Given the description of an element on the screen output the (x, y) to click on. 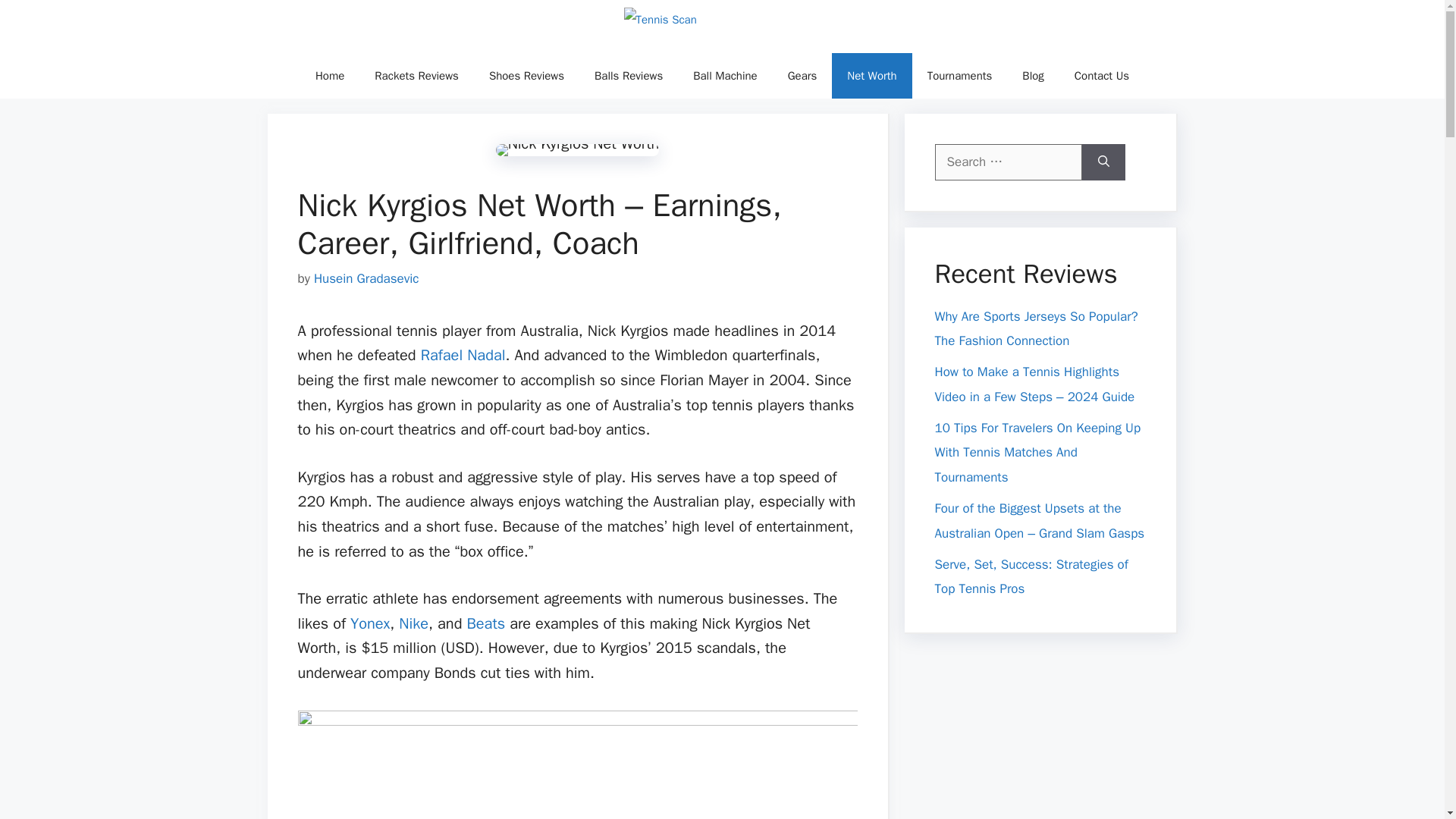
Gears (802, 75)
Balls Reviews (628, 75)
Shoes Reviews (526, 75)
Why Are Sports Jerseys So Popular? The Fashion Connection (1035, 327)
Tournaments (959, 75)
Ball Machine (724, 75)
Contact Us (1101, 75)
Rafael Nadal (462, 354)
Rackets Reviews (416, 75)
Nike (413, 623)
Tennis Scan (717, 26)
Net Worth (871, 75)
Search for: (1007, 162)
Yonex (370, 623)
Serve, Set, Success: Strategies of Top Tennis Pros (1030, 576)
